Given the description of an element on the screen output the (x, y) to click on. 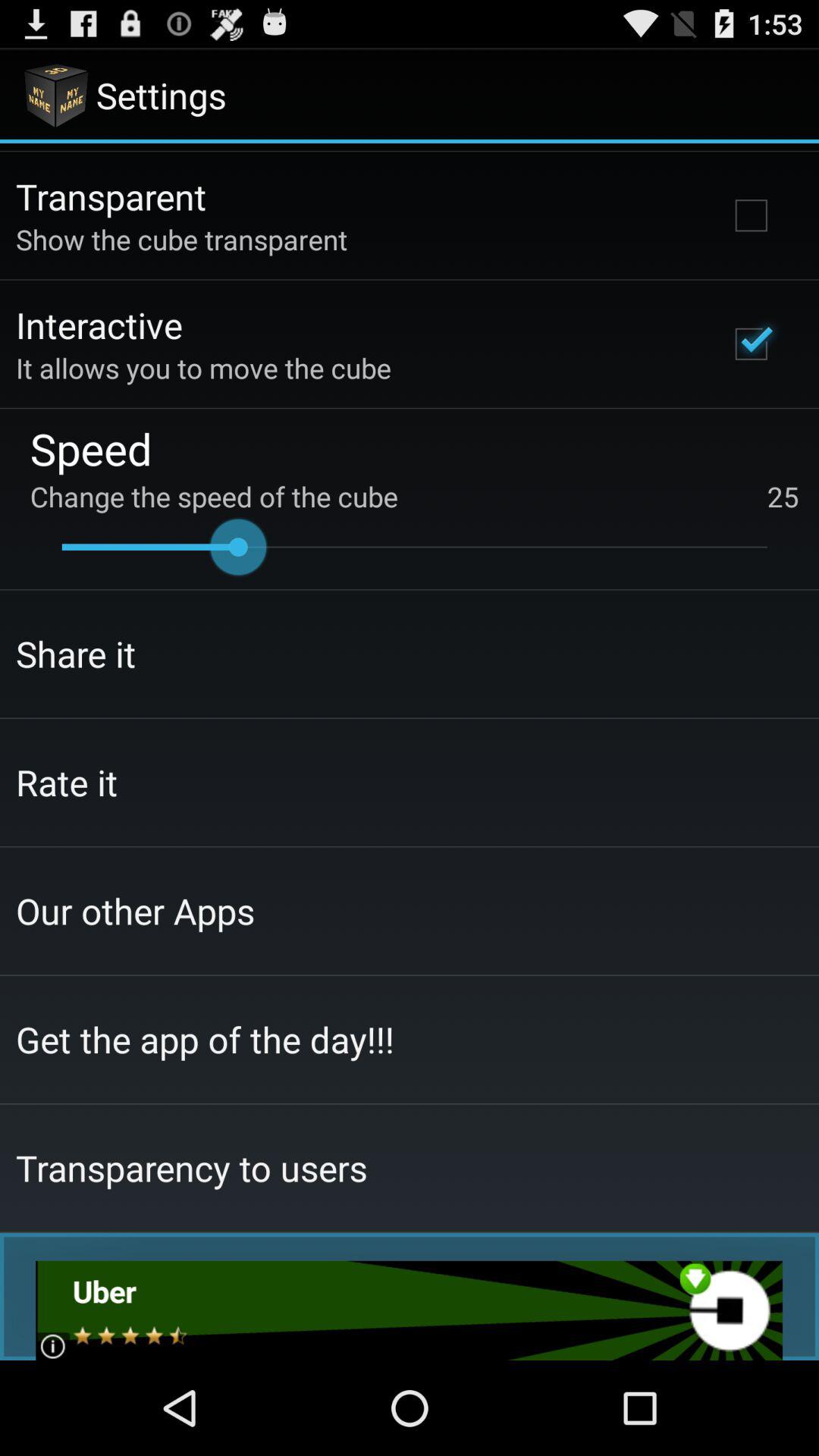
tap the item below share it item (66, 782)
